Given the description of an element on the screen output the (x, y) to click on. 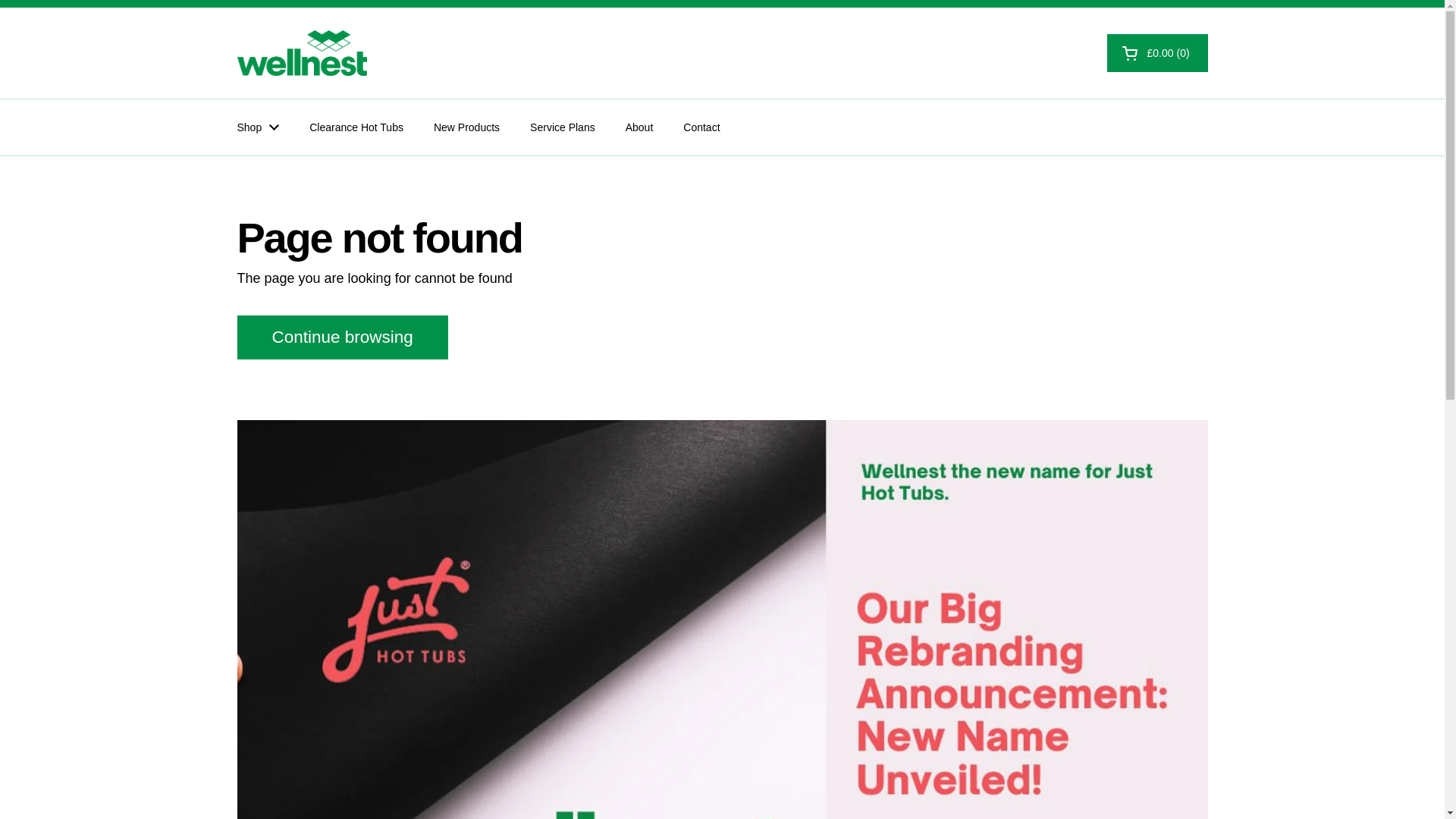
Wellnest (300, 53)
Open cart (1157, 53)
Shop (257, 127)
Shop (257, 127)
